Given the description of an element on the screen output the (x, y) to click on. 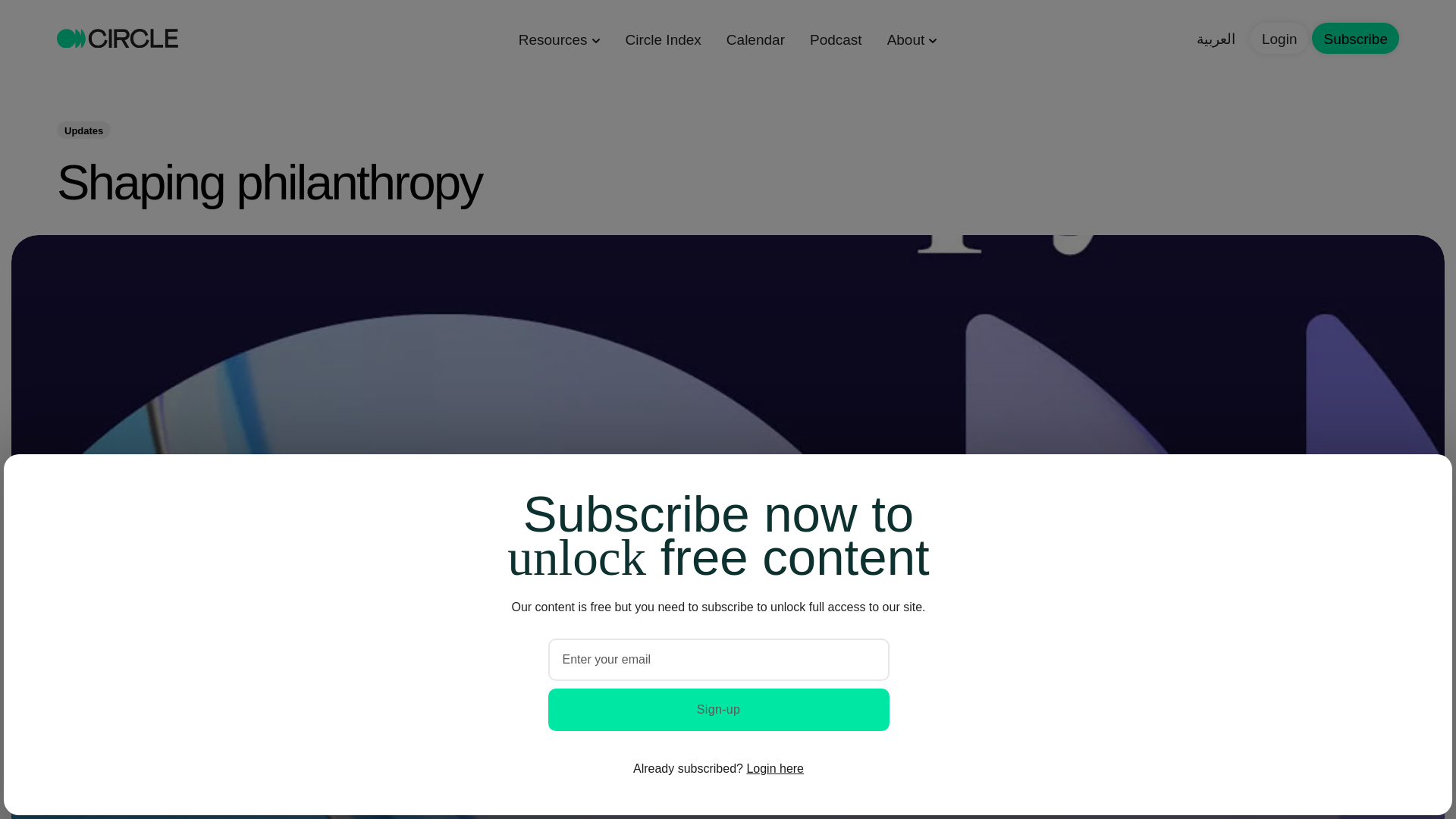
Sign-up (717, 709)
Login (1279, 38)
Circle Index (663, 37)
Calendar (755, 37)
Login here (774, 768)
Subscribe (1355, 38)
About (912, 37)
Resources (558, 37)
Podcast (835, 37)
Updates (83, 129)
